Given the description of an element on the screen output the (x, y) to click on. 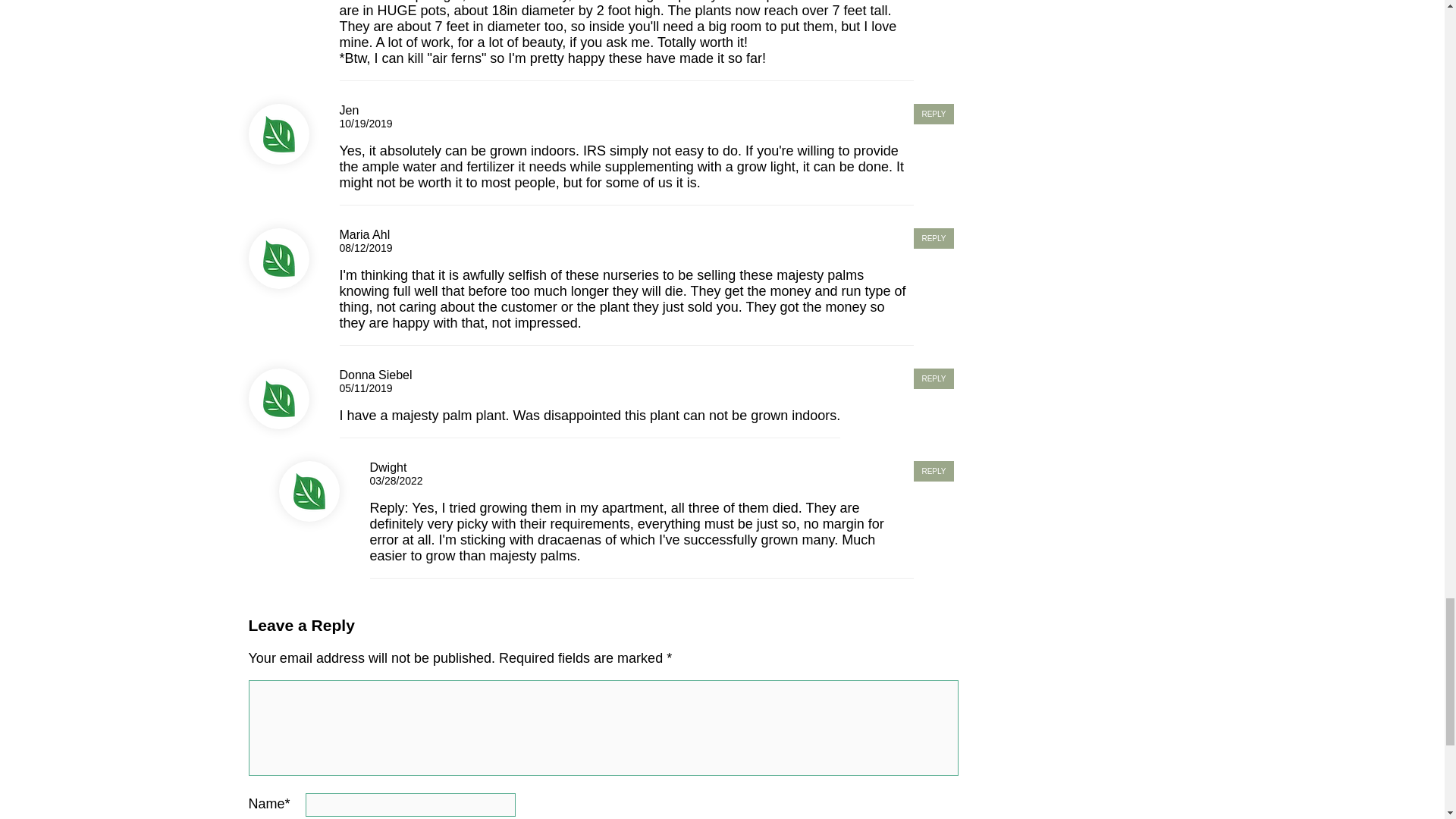
REPLY (933, 471)
REPLY (933, 238)
REPLY (933, 114)
REPLY (933, 378)
